Given the description of an element on the screen output the (x, y) to click on. 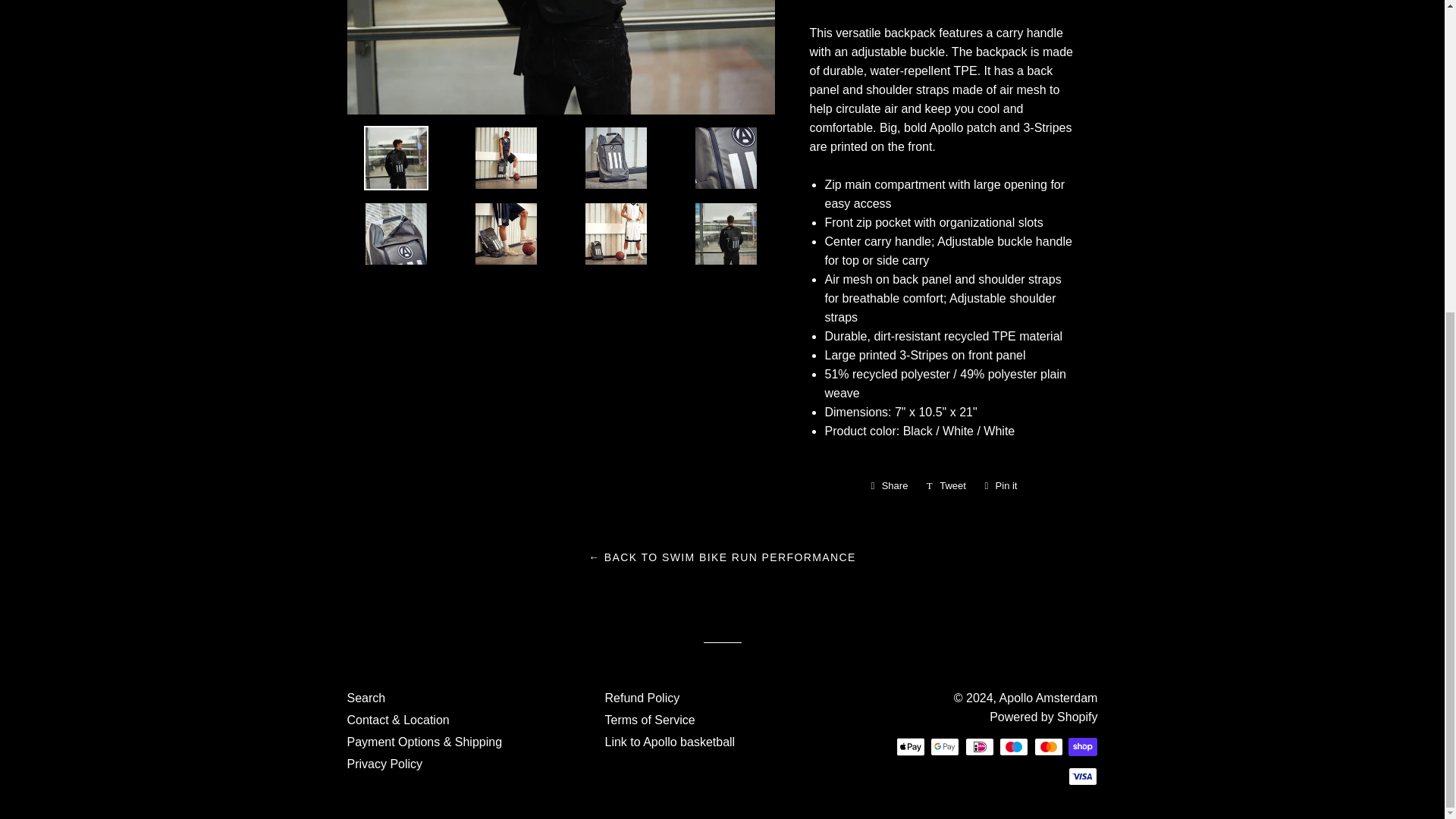
Mastercard (1047, 746)
Tweet on Twitter (946, 486)
iDEAL (979, 746)
Google Pay (944, 746)
Share on Facebook (889, 486)
Visa (1082, 776)
Pin on Pinterest (1000, 486)
Apple Pay (910, 746)
Maestro (1012, 746)
Shop Pay (1082, 746)
